Given the description of an element on the screen output the (x, y) to click on. 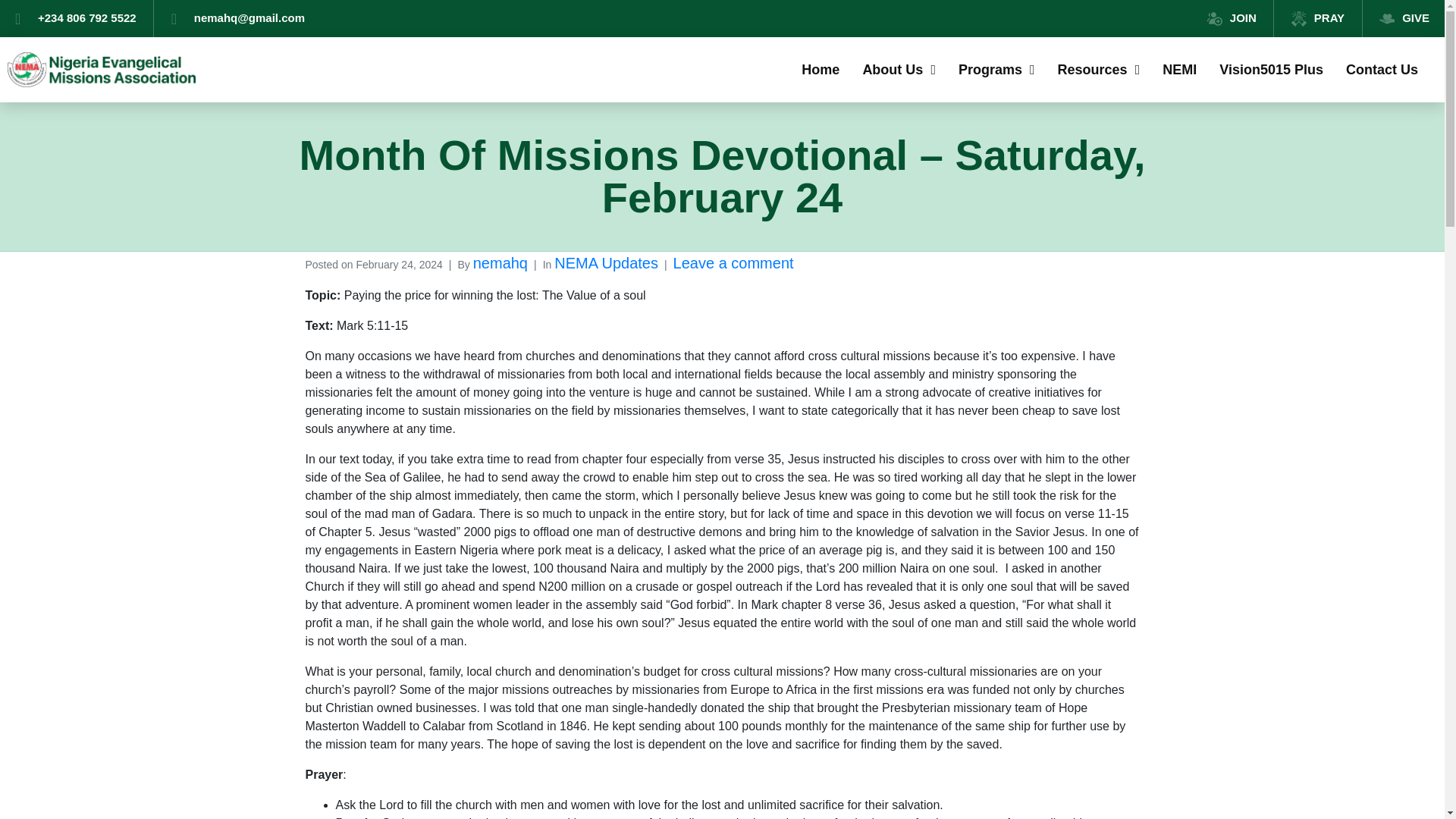
Resources (1098, 69)
GIVE (1403, 18)
Contact Us (1382, 69)
Vision5015 Plus (1271, 69)
Programs (996, 69)
JOIN (1231, 18)
About Us (898, 69)
Home (820, 69)
PRAY (1317, 18)
